Given the description of an element on the screen output the (x, y) to click on. 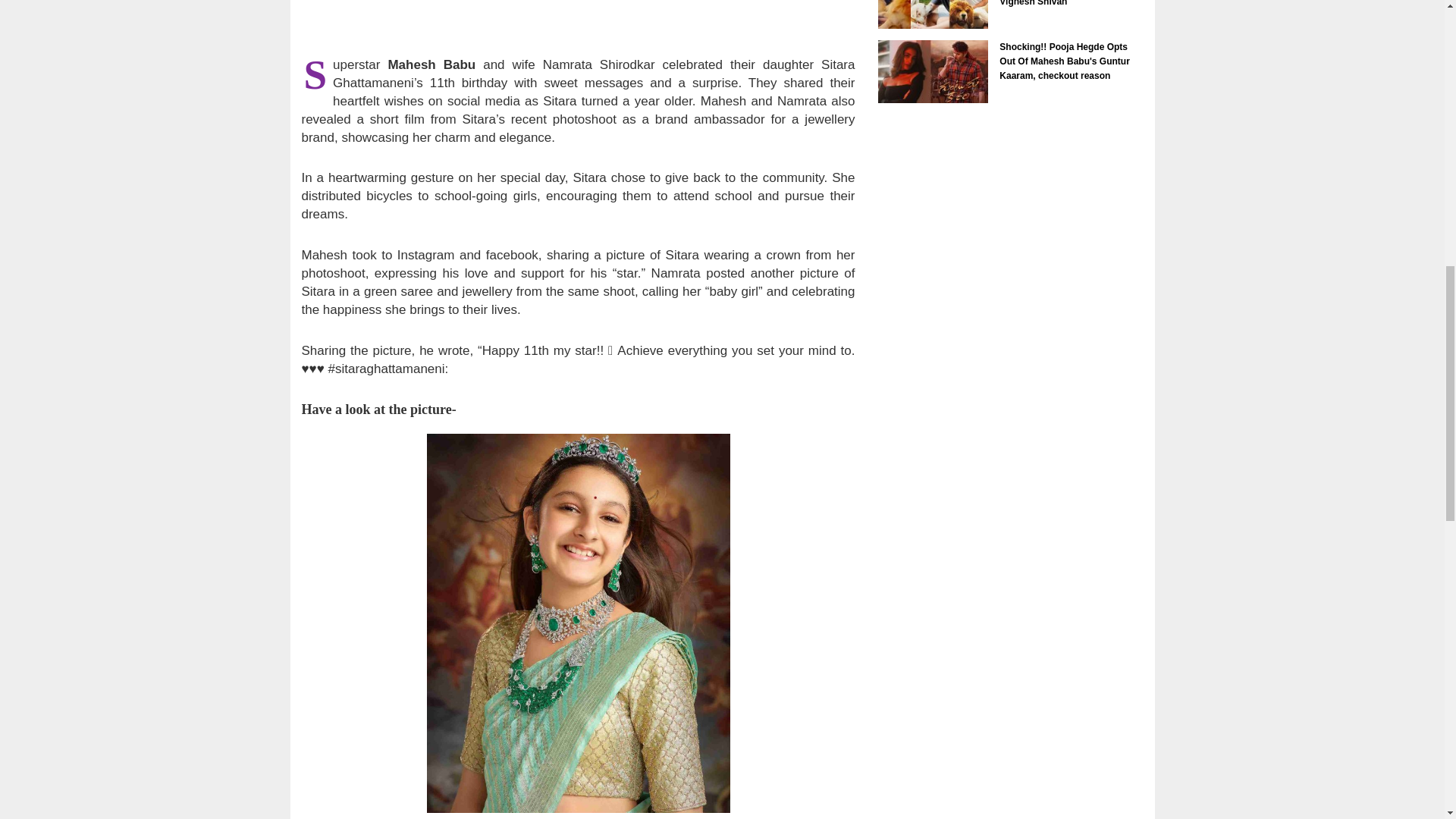
3rd party ad content (577, 20)
